Given the description of an element on the screen output the (x, y) to click on. 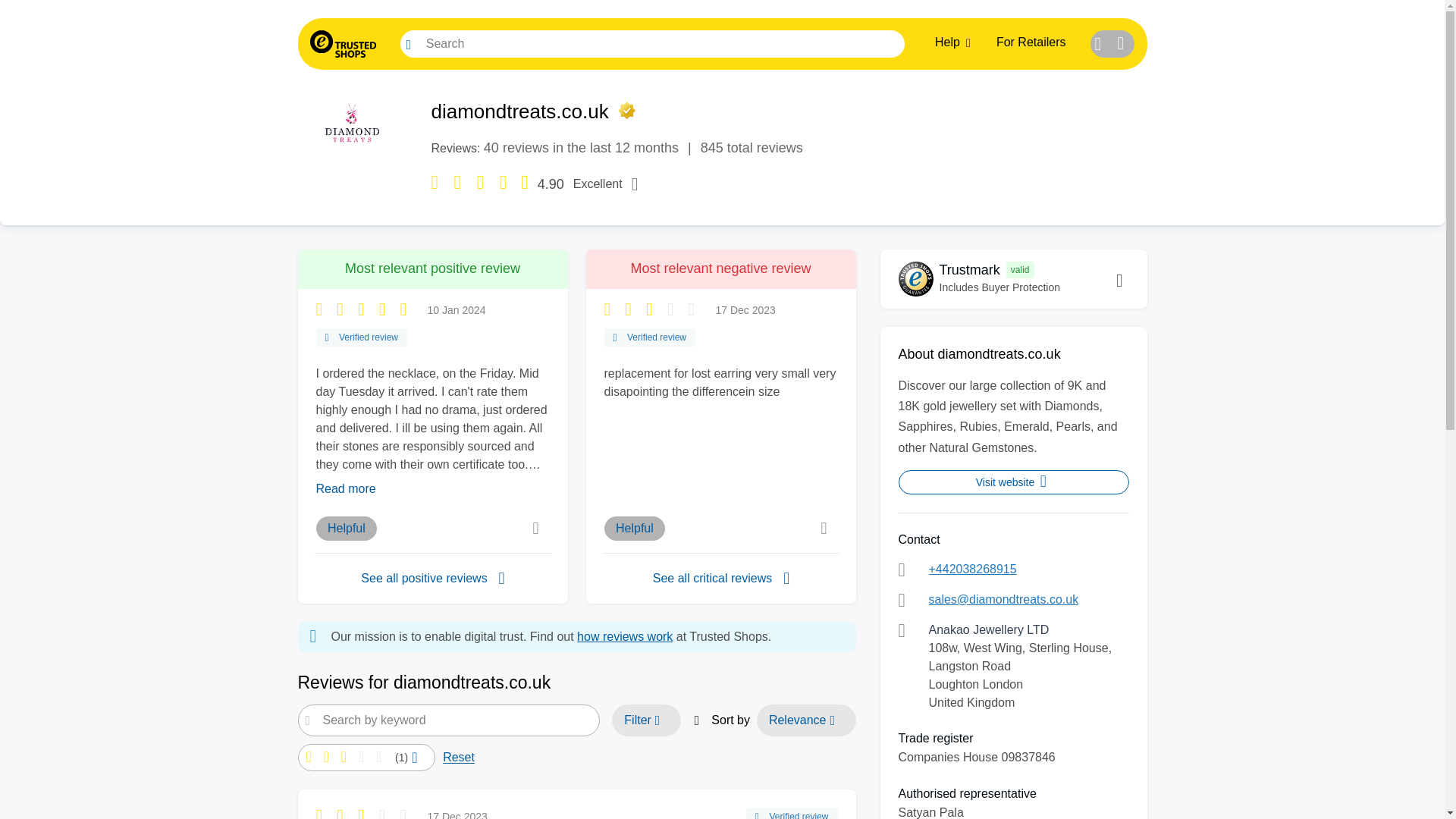
Trusted Shops logo (341, 43)
See all positive reviews (432, 578)
Helpful (346, 528)
Reset (458, 757)
Visit website (1013, 482)
See all critical reviews (722, 43)
For Retailers (720, 578)
Helpful (1030, 42)
how reviews work (634, 528)
